Given the description of an element on the screen output the (x, y) to click on. 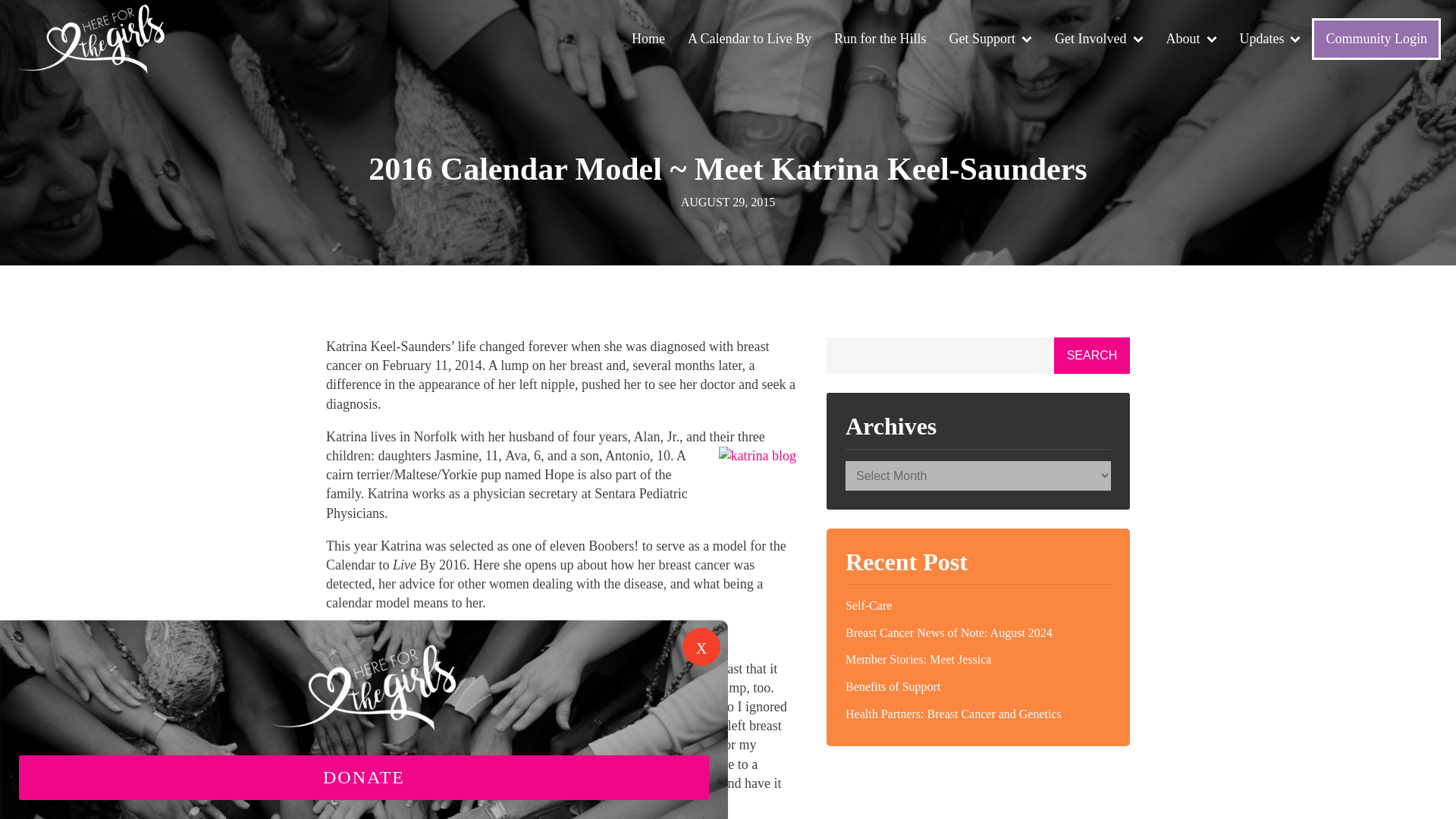
Self-Care (977, 605)
Home (648, 38)
Search (1091, 355)
Get Involved (1098, 38)
Get Support (990, 38)
About (1190, 38)
Run for the Hills (879, 38)
Benefits of Support (977, 687)
Community Login (1376, 38)
Community Login (1376, 38)
